Given the description of an element on the screen output the (x, y) to click on. 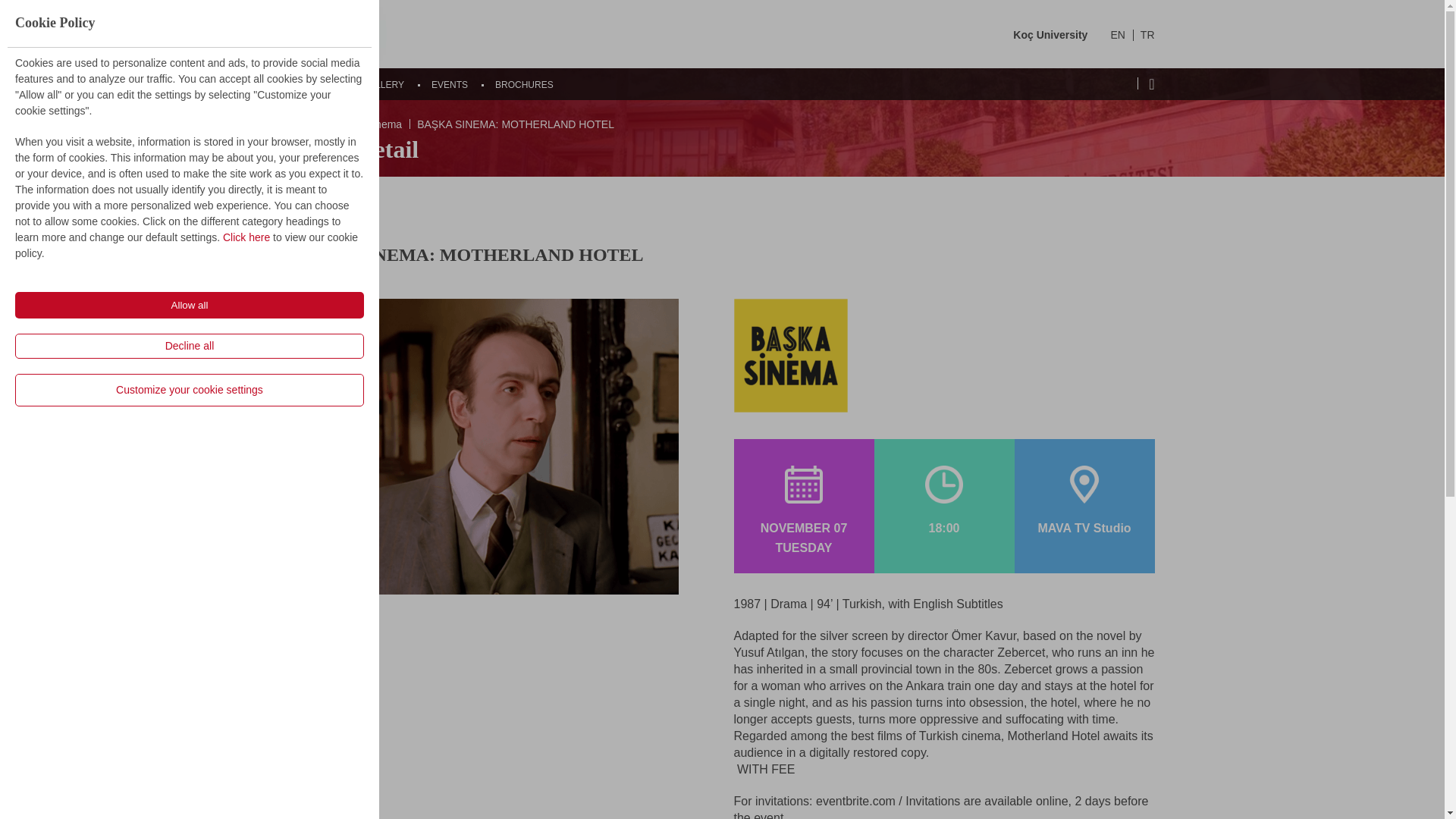
EN (1116, 34)
GALLERY (383, 84)
KU (337, 33)
BROCHURES (524, 84)
EVENTS (448, 84)
TR (1147, 34)
ABOUT (318, 84)
